Given the description of an element on the screen output the (x, y) to click on. 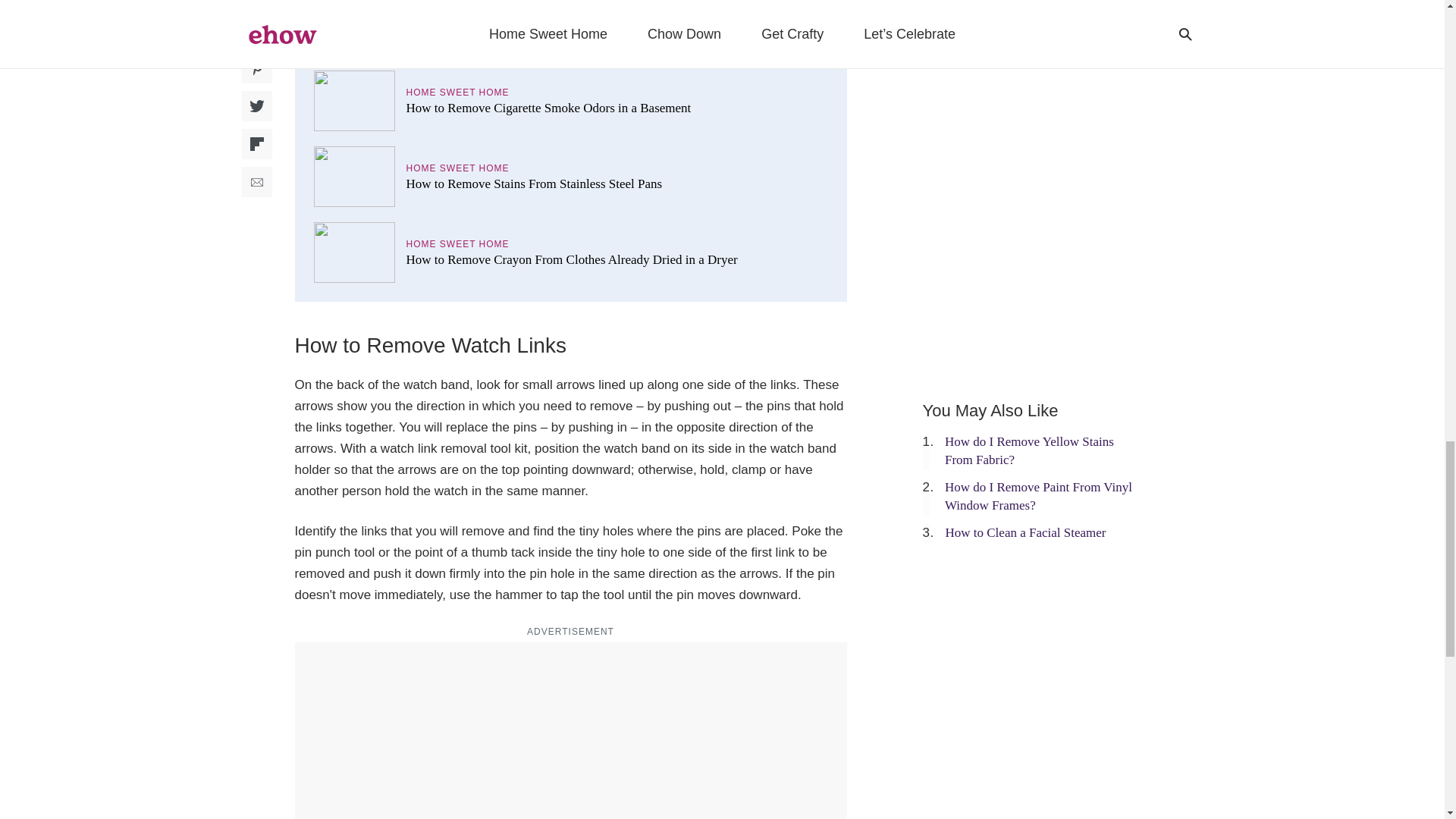
How do I Remove Yellow Stains From Fabric? (1028, 450)
How to Clean a Facial Steamer (1024, 532)
How do I Remove Paint From Vinyl Window Frames? (1038, 495)
